Given the description of an element on the screen output the (x, y) to click on. 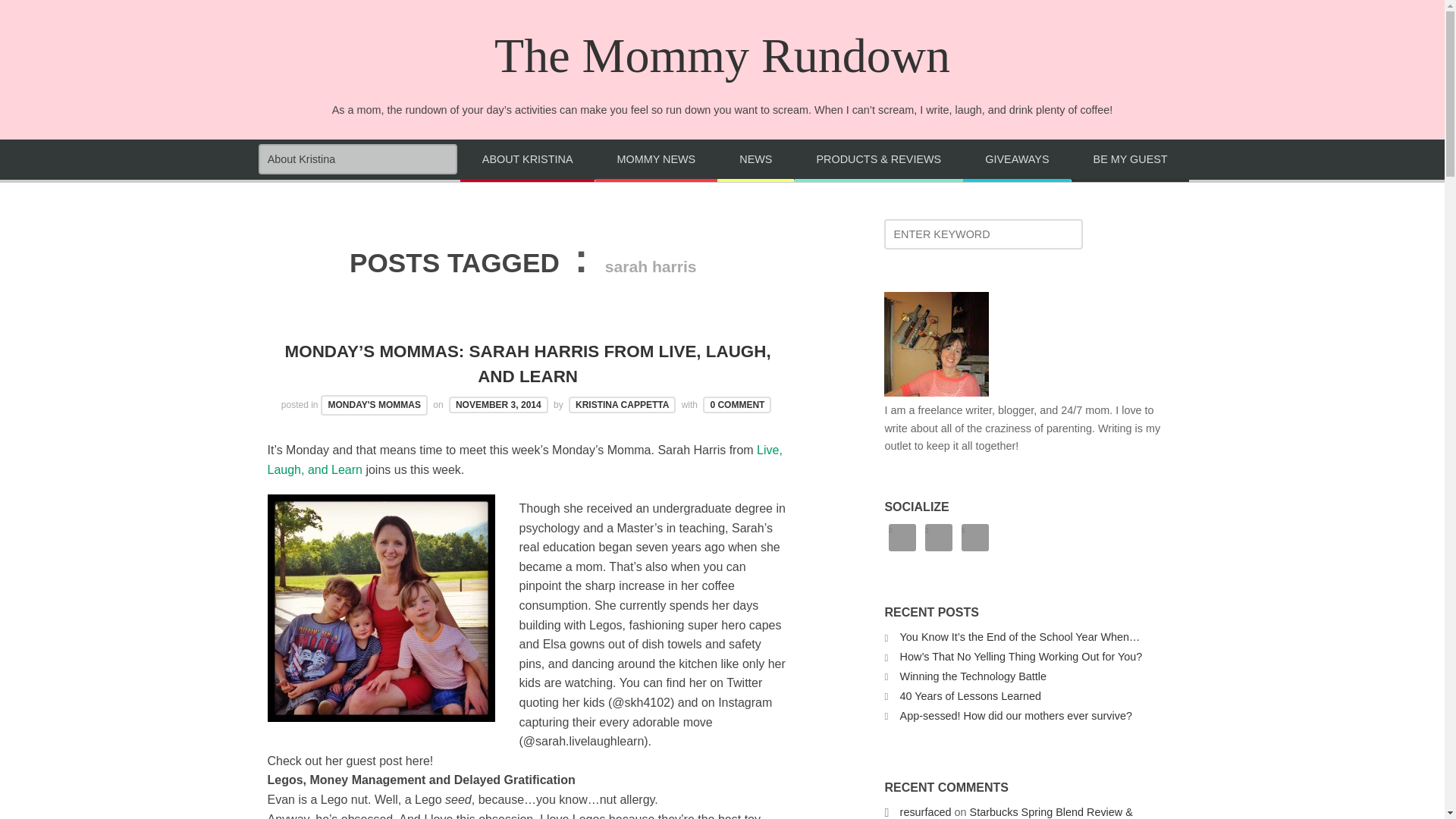
ABOUT KRISTINA (527, 160)
Search (46, 16)
App-sessed! How did our mothers ever survive? (1015, 715)
NOVEMBER 3, 2014 (498, 404)
KRISTINA CAPPETTA (622, 404)
View all posts by Kristina Cappetta (622, 404)
BE MY GUEST (1130, 160)
NEWS (755, 160)
MONDAY'S MOMMAS (373, 404)
MOMMY NEWS (656, 160)
0 COMMENT (737, 404)
Live, Laugh, and Learn (523, 459)
resurfaced (925, 811)
7:00 am (498, 404)
Winning the Technology Battle (972, 676)
